Given the description of an element on the screen output the (x, y) to click on. 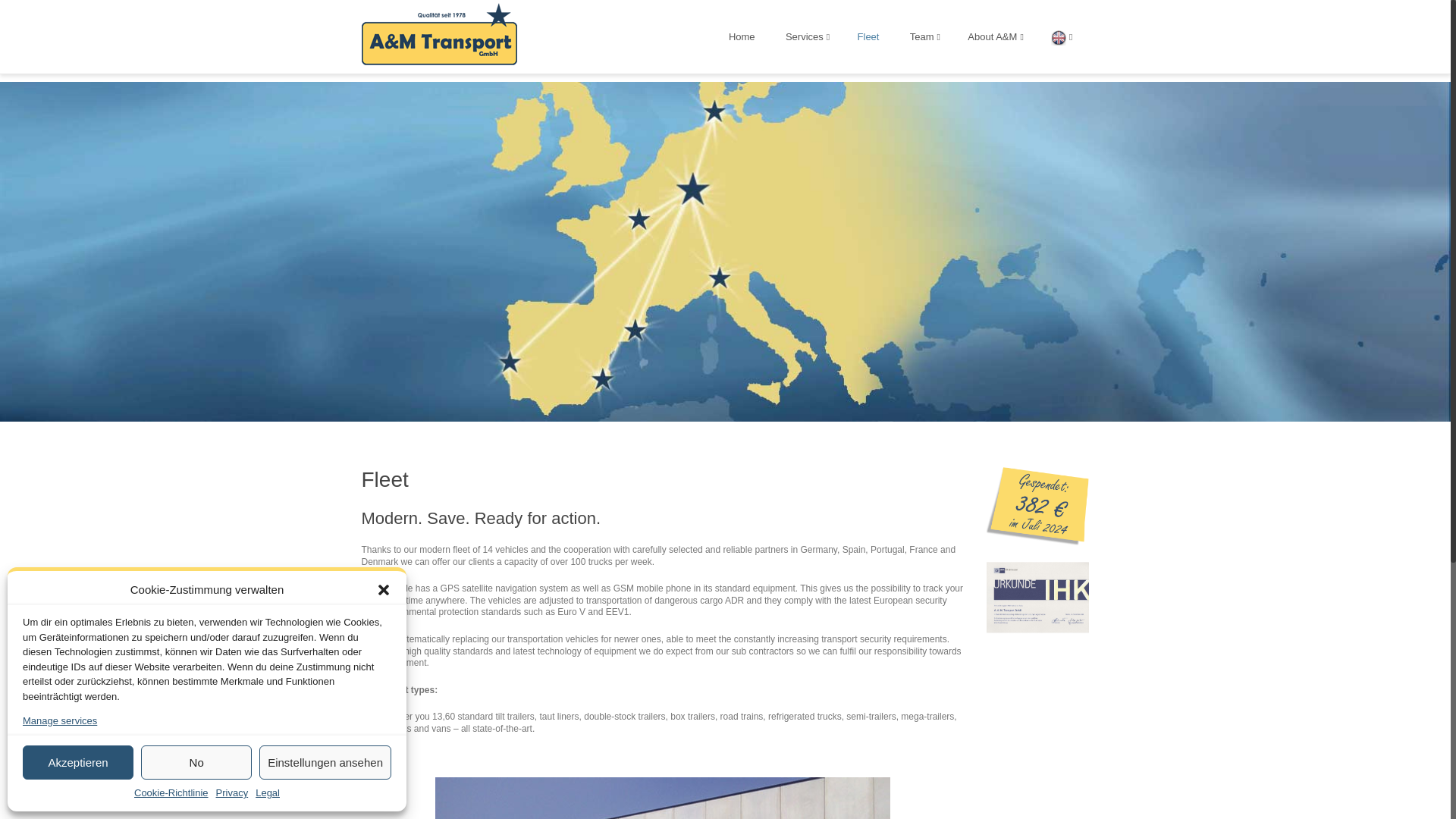
Cookie-Richtlinie (170, 793)
Privacy (231, 793)
We donated: 382 EUR in July 2024. (1038, 542)
No (196, 762)
Legal (267, 793)
Manage services (60, 721)
We were awarded by the IHK in 2020. (1038, 630)
Akzeptieren (78, 762)
Einstellungen ansehen (325, 762)
